Given the description of an element on the screen output the (x, y) to click on. 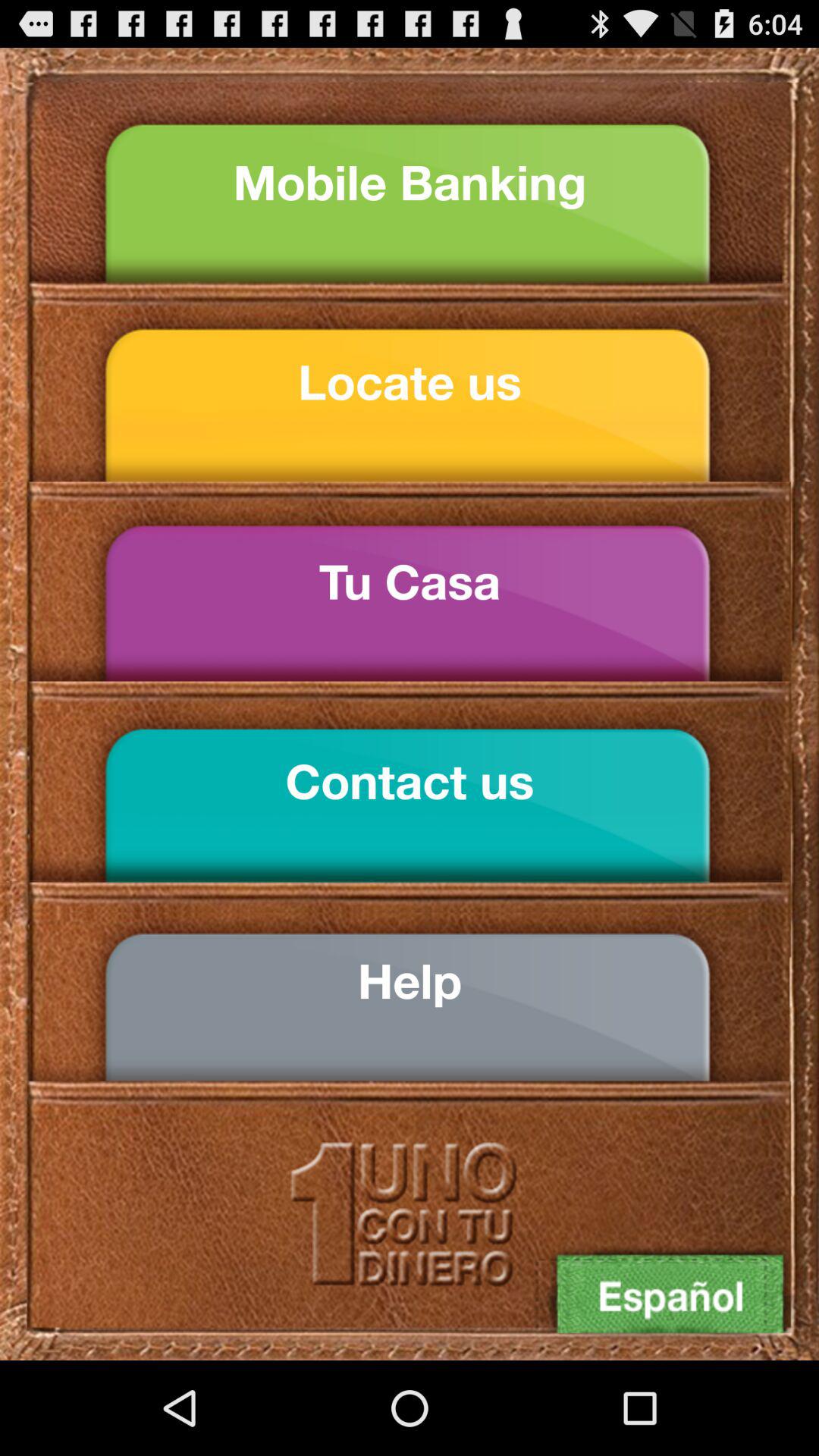
select locate us icon (409, 382)
